Given the description of an element on the screen output the (x, y) to click on. 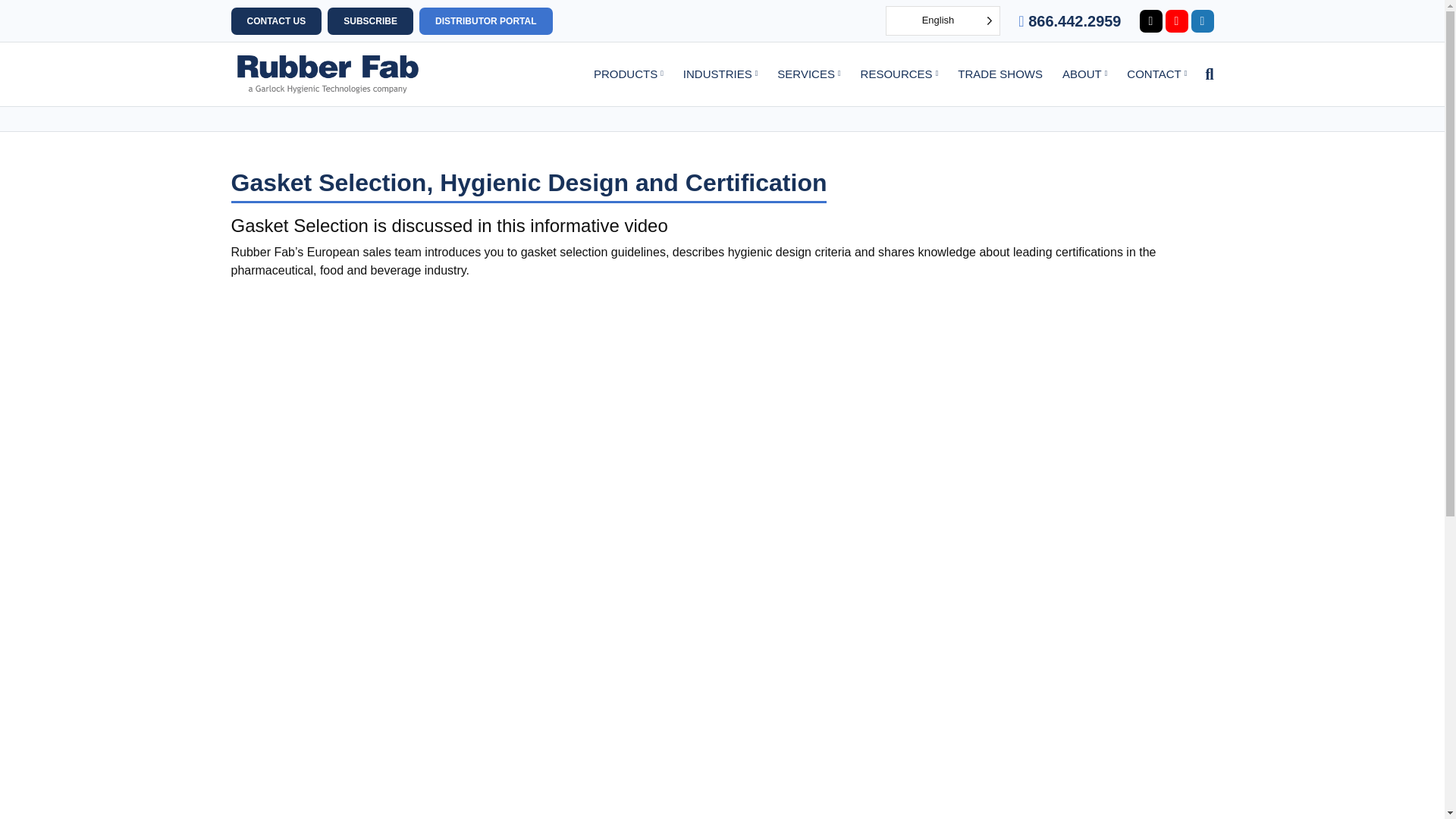
INDUSTRIES (720, 74)
SERVICES (808, 74)
PRODUCTS (628, 74)
CONTACT US (275, 21)
SUBSCRIBE (370, 21)
DISTRIBUTOR PORTAL (486, 21)
866.442.2959 (1069, 20)
